Given the description of an element on the screen output the (x, y) to click on. 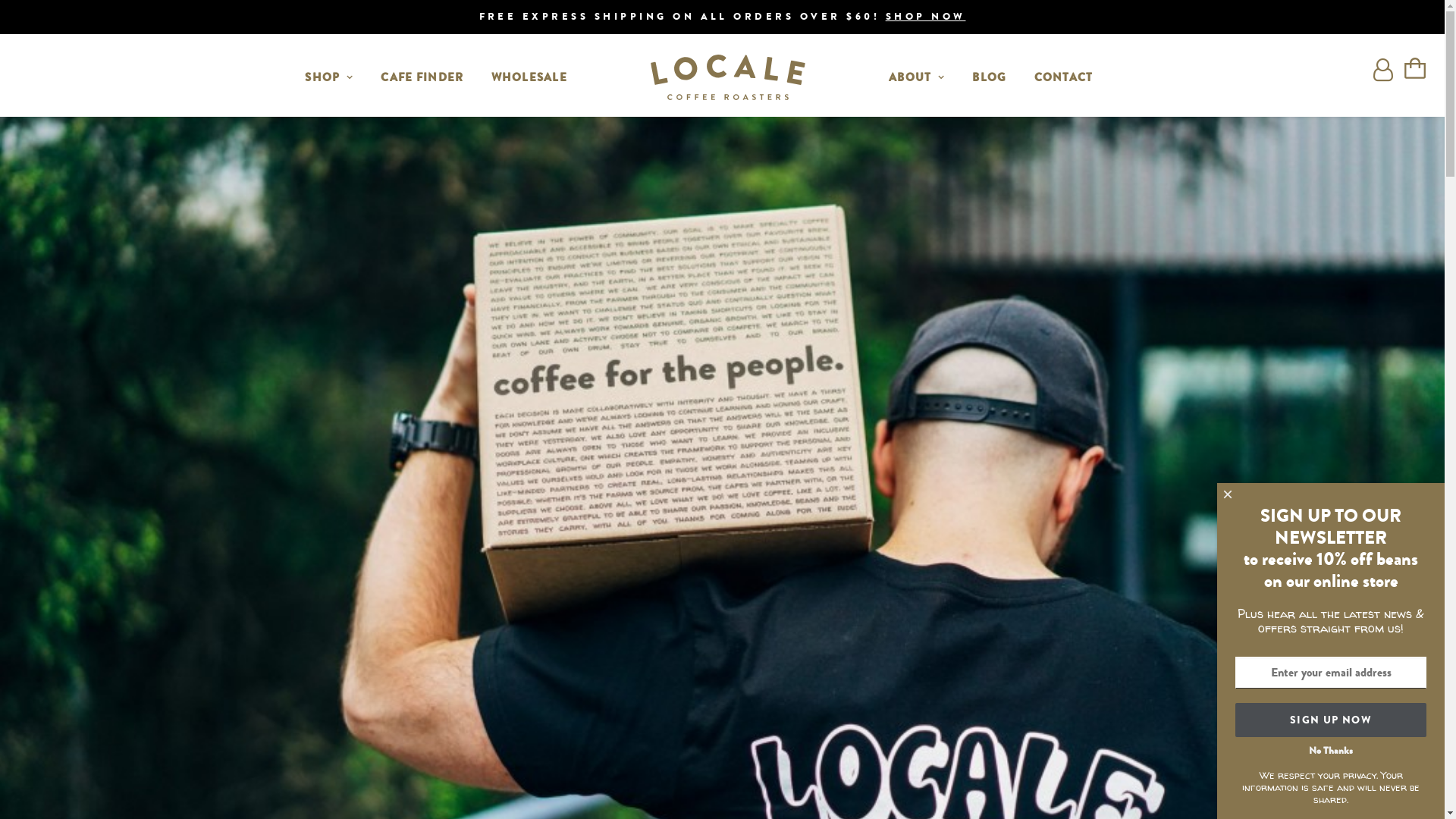
CAFE FINDER Element type: text (421, 76)
cart Element type: hover (1407, 76)
SHOP NOW Element type: text (925, 16)
CONTACT Element type: text (1063, 76)
SHOP Element type: text (329, 76)
WHOLESALE Element type: text (528, 76)
account Element type: hover (1382, 76)
ABOUT Element type: text (916, 76)
BLOG Element type: text (988, 76)
